Given the description of an element on the screen output the (x, y) to click on. 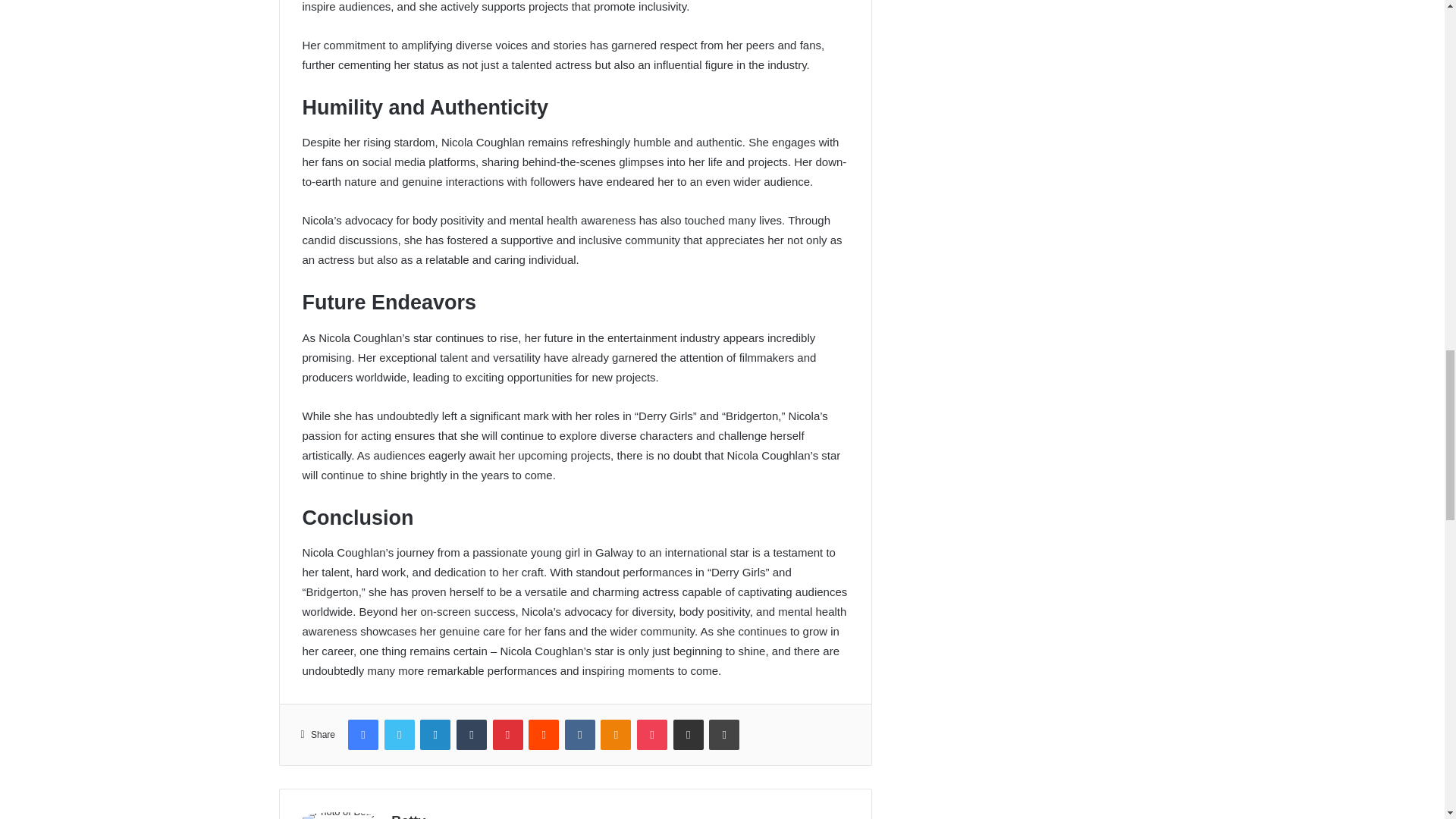
Facebook (362, 734)
